Given the description of an element on the screen output the (x, y) to click on. 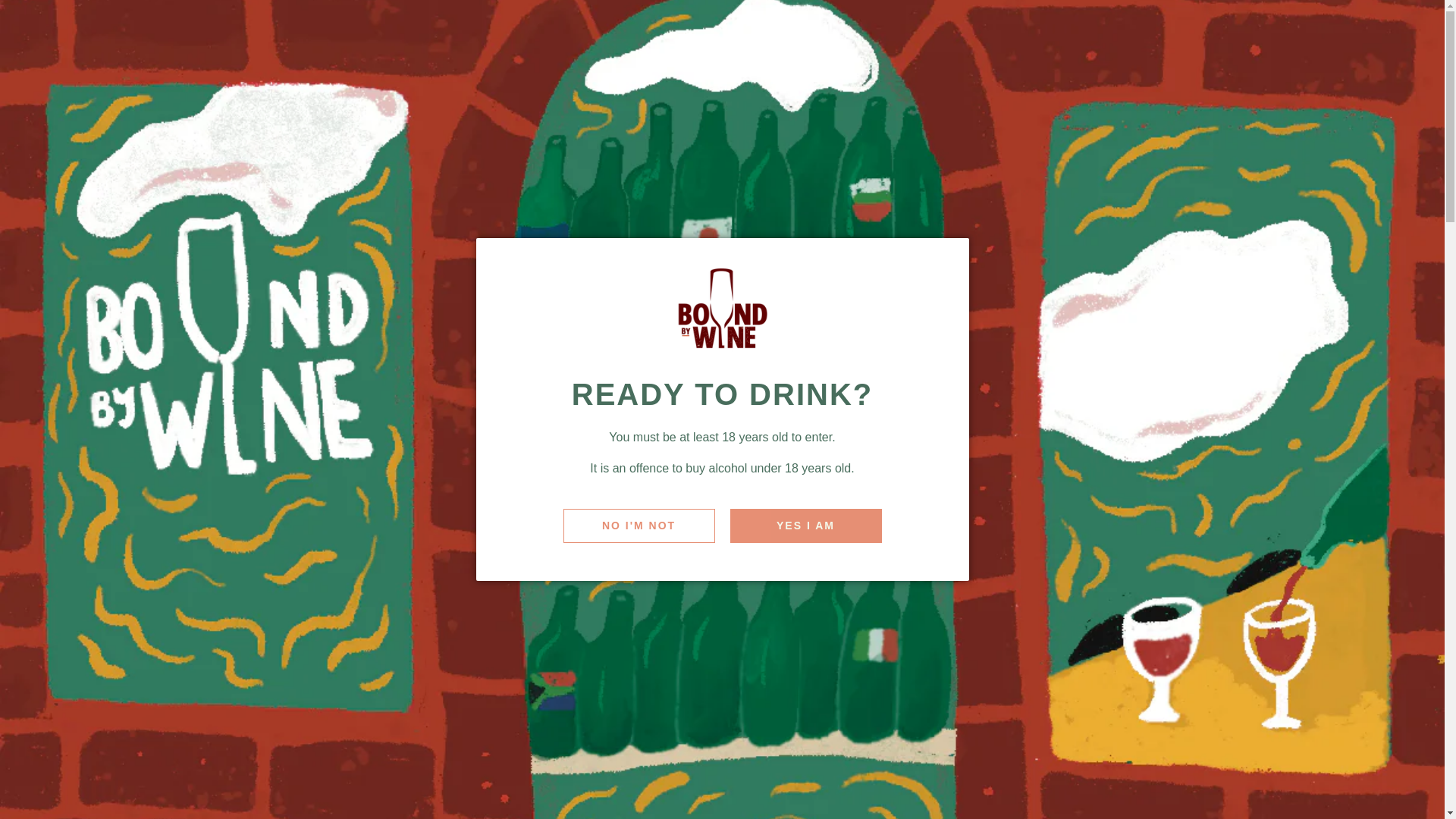
TWITTER ICON (1372, 27)
FACEBOOK ICON (1348, 27)
INSTAGRAM ICON (1396, 27)
YOUTUBE ICON (1420, 27)
Log in (1322, 92)
Cart (1367, 92)
TWITTER ICON (1372, 27)
INSTAGRAM ICON (1396, 27)
FACEBOOK ICON (1348, 27)
Search (1277, 92)
